Given the description of an element on the screen output the (x, y) to click on. 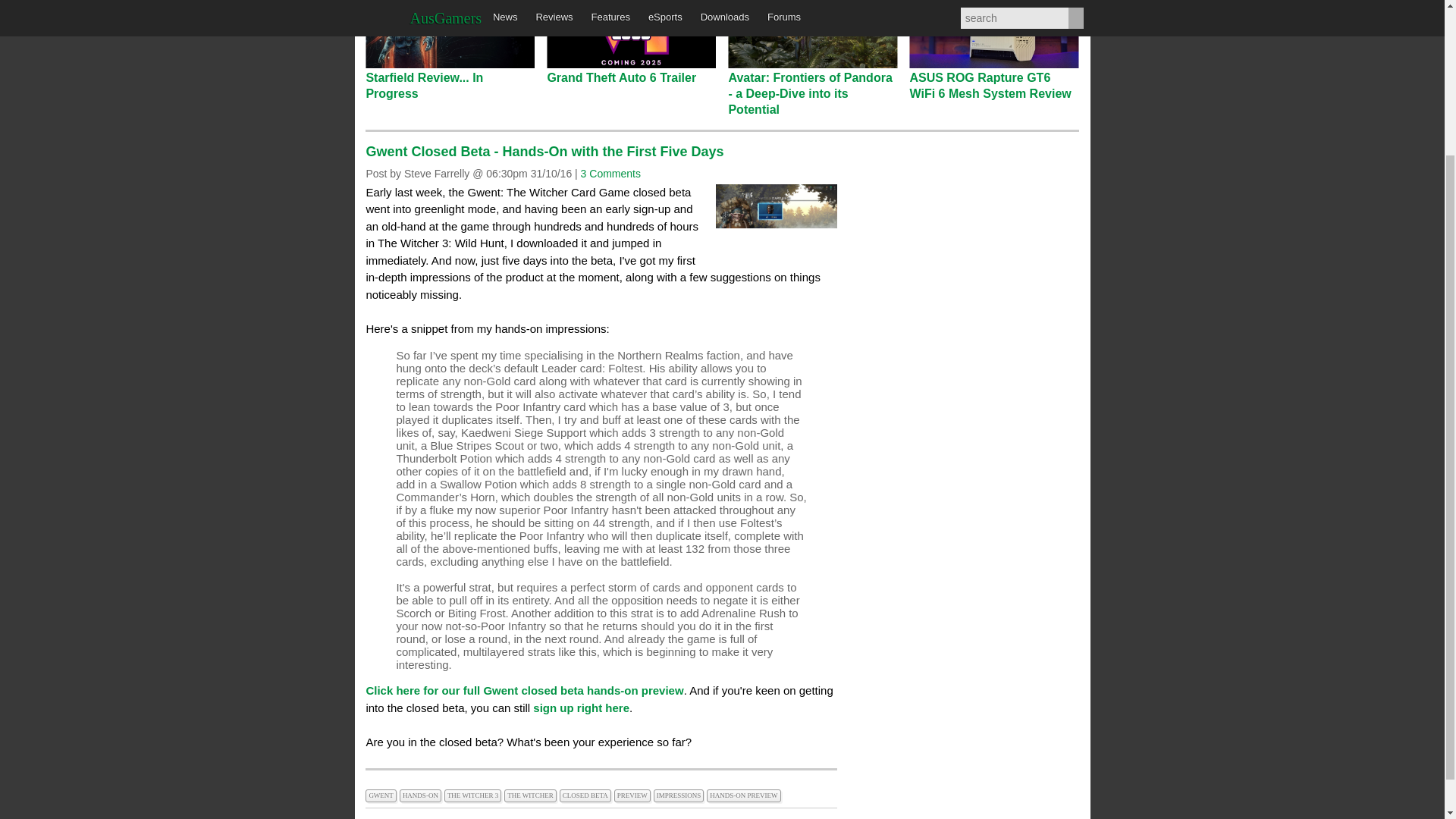
IMPRESSIONS (680, 793)
Click here for our full Gwent closed beta hands-on preview (523, 689)
Gwent Closed Beta - Hands-On with the First Five Days (544, 151)
HANDS-ON PREVIEW (744, 793)
GWENT (381, 793)
3 Comments (610, 173)
THE WITCHER 3 (473, 793)
PREVIEW (633, 793)
CLOSED BETA (586, 793)
